Given the description of an element on the screen output the (x, y) to click on. 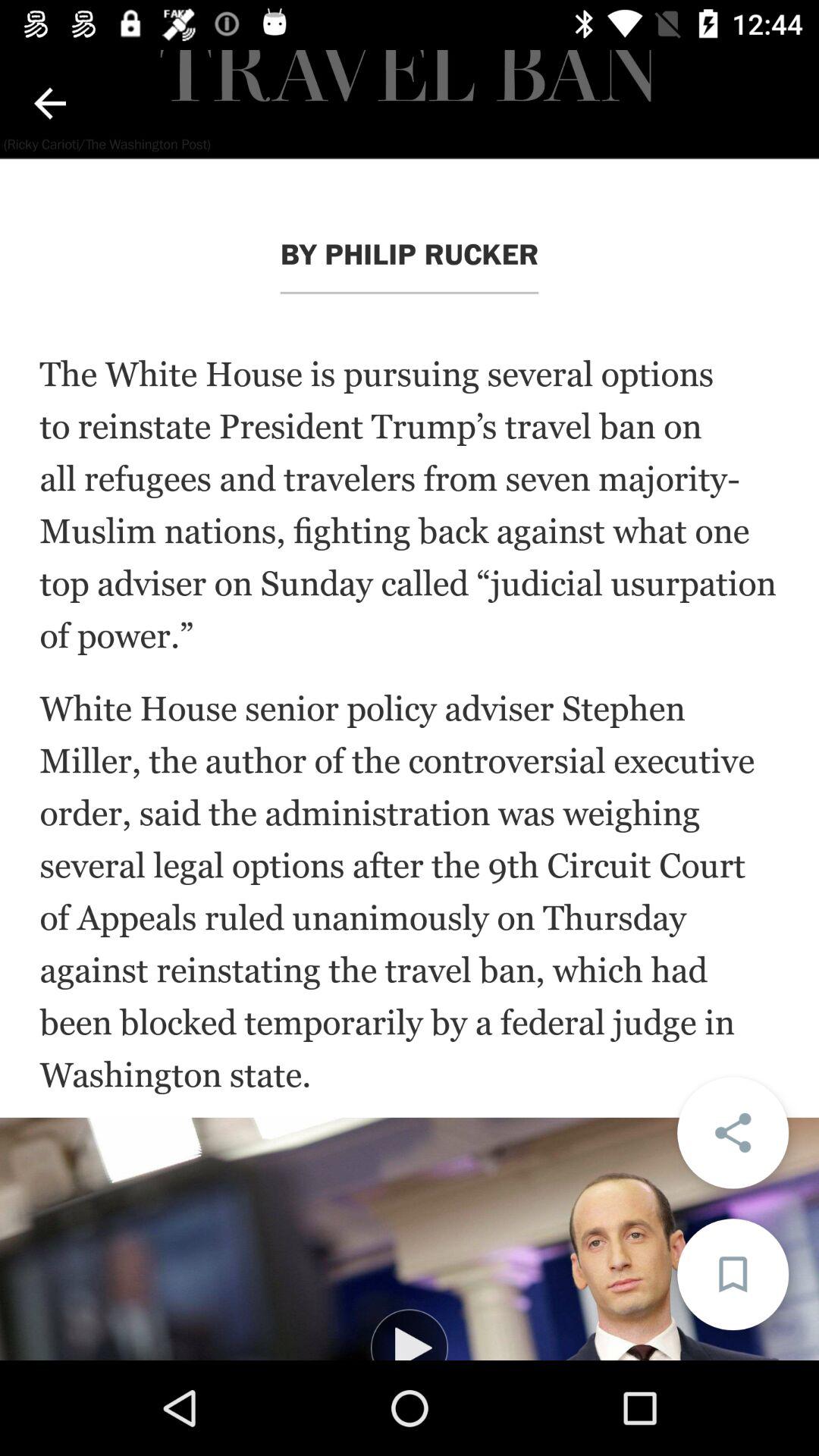
go back (49, 103)
